Given the description of an element on the screen output the (x, y) to click on. 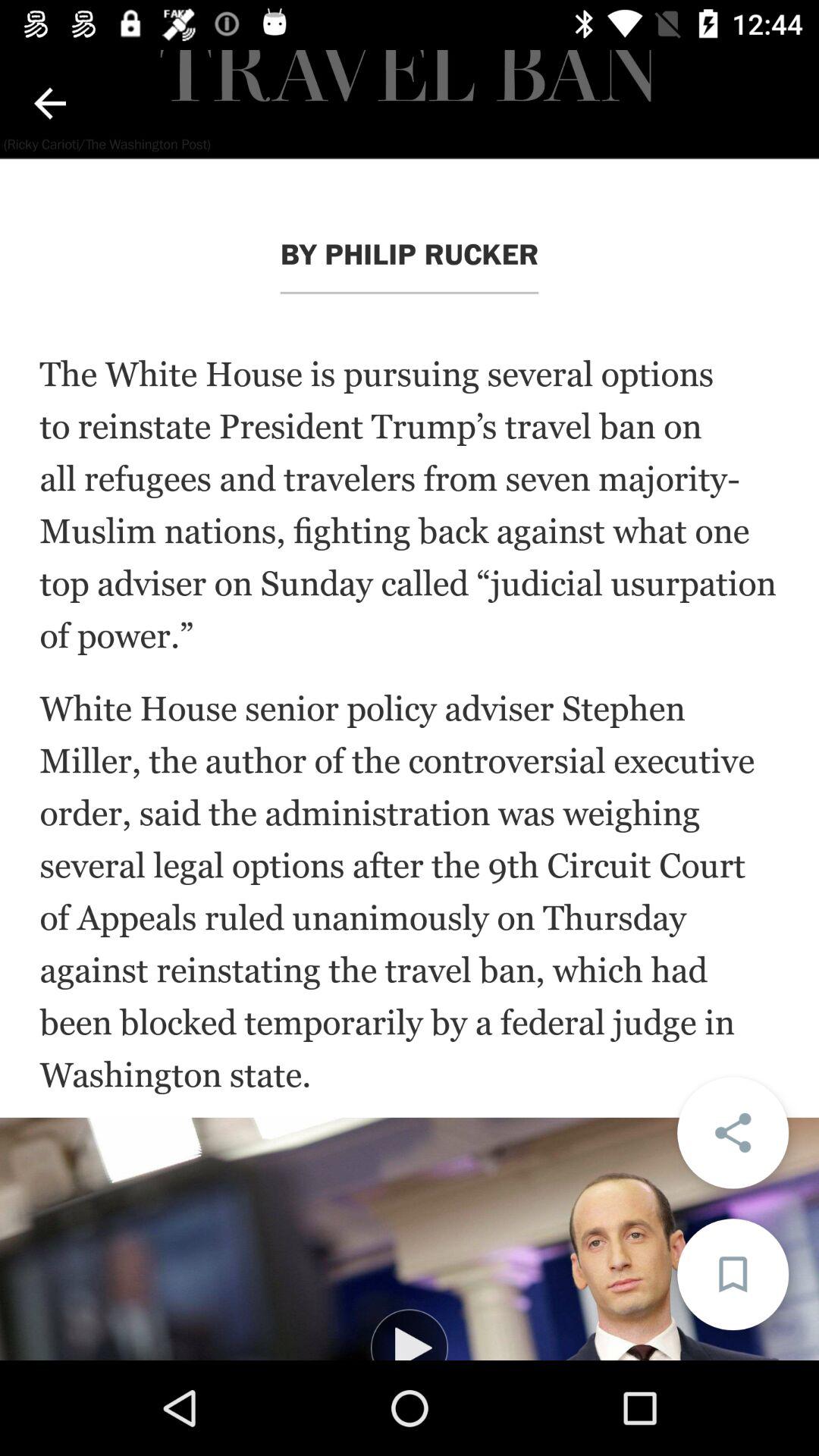
go back (49, 103)
